Given the description of an element on the screen output the (x, y) to click on. 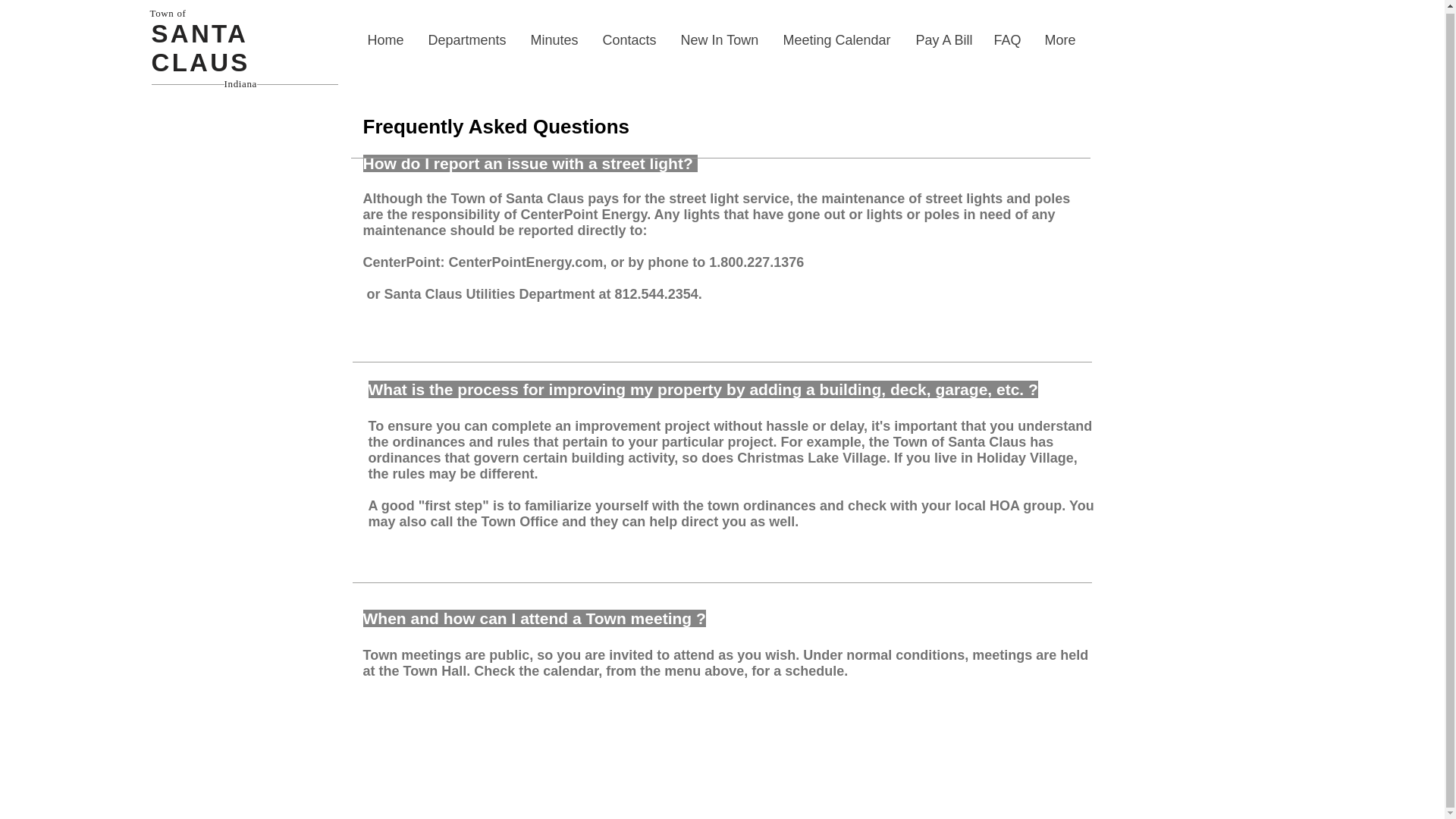
Pay A Bill (942, 40)
Contacts (628, 40)
FAQ (1006, 40)
Home (386, 40)
